Given the description of an element on the screen output the (x, y) to click on. 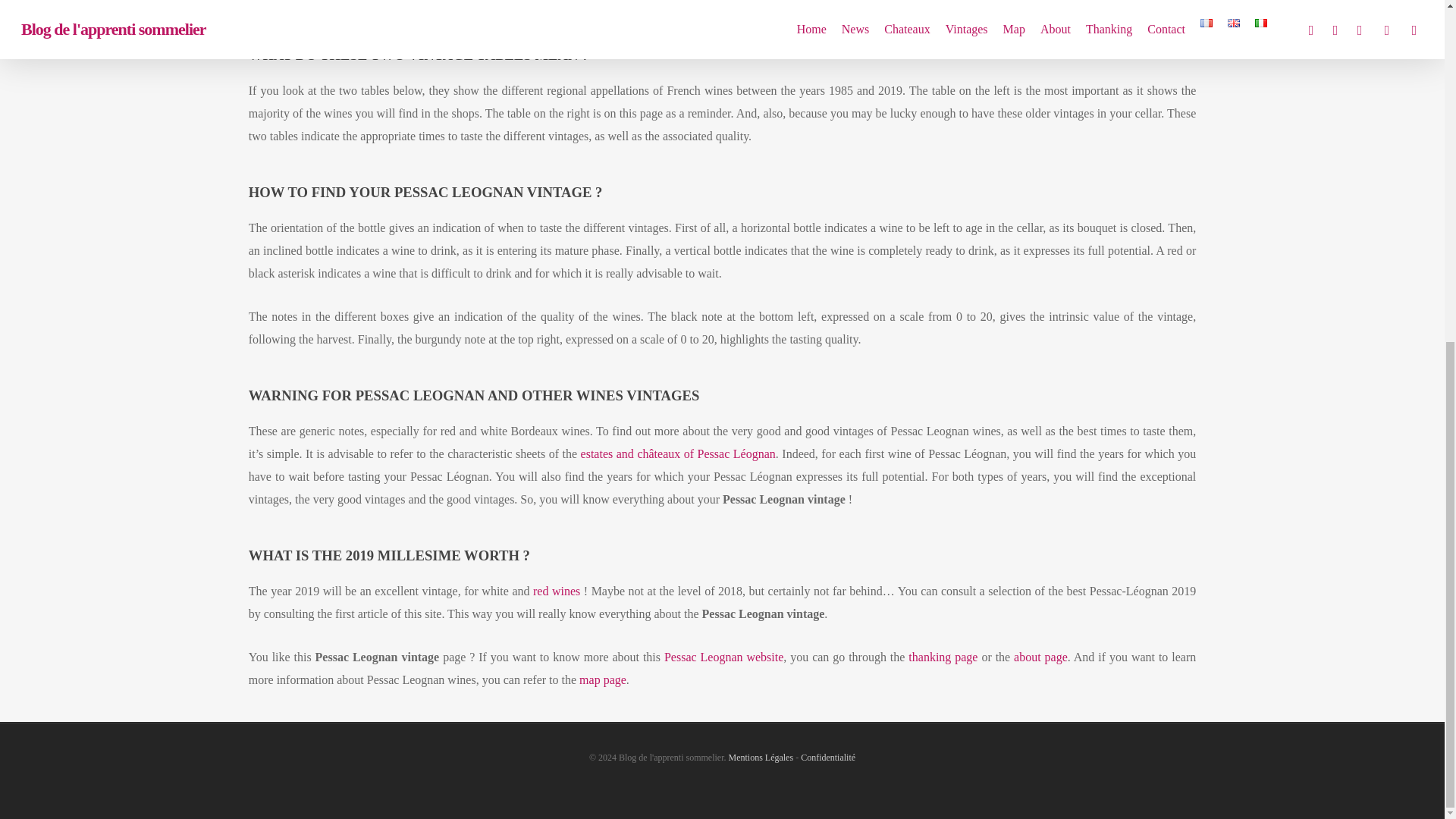
Pessac Leognan website (723, 656)
red wines (555, 590)
Wikipedia page on vintages (333, 2)
map page (602, 679)
about page (1040, 656)
thanking page (942, 656)
